Given the description of an element on the screen output the (x, y) to click on. 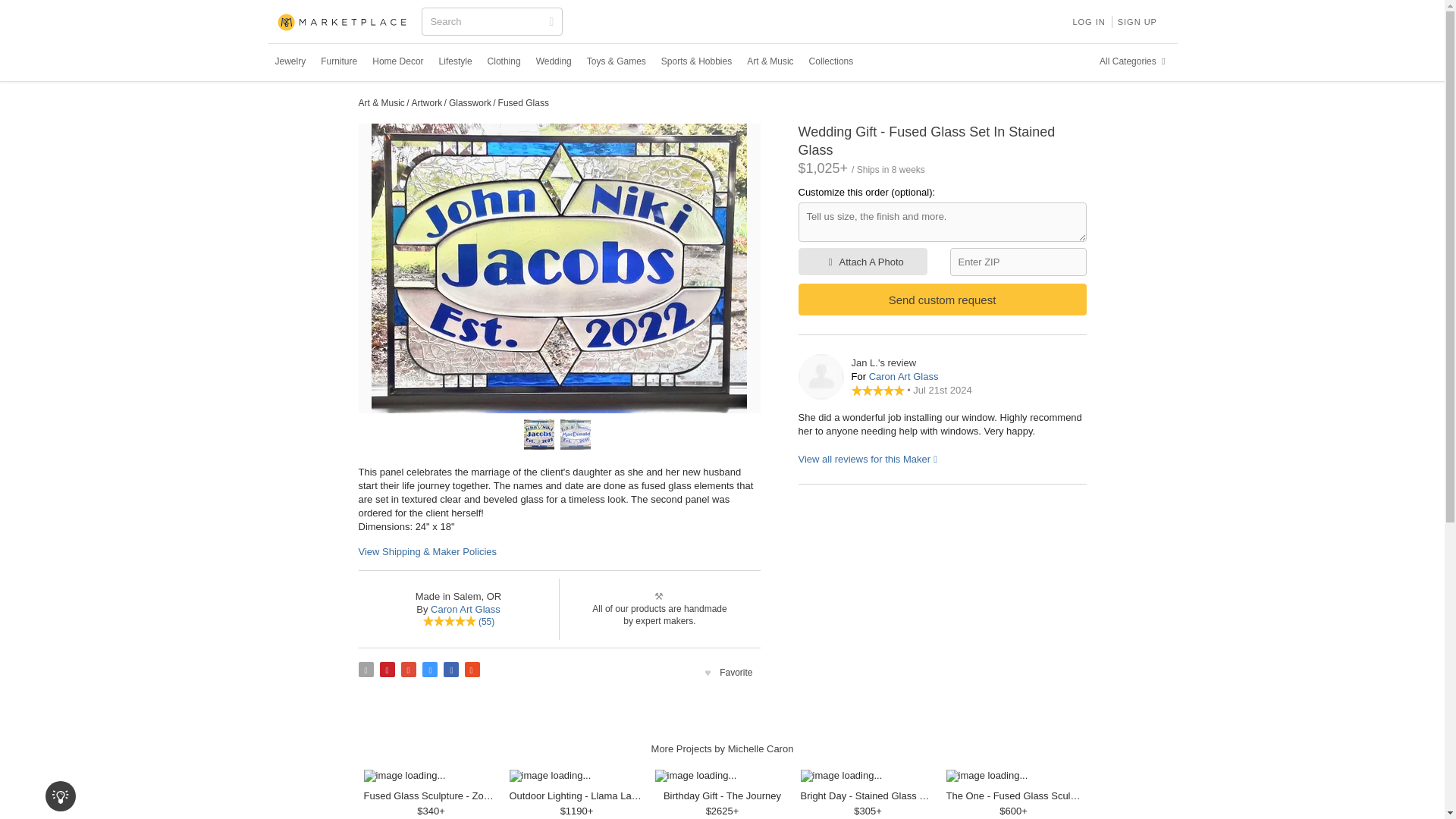
Jewelry (289, 61)
LOG IN (1087, 21)
SIGN UP (1137, 21)
Log in to CustomMade (1087, 21)
CUSTOMMADE (342, 22)
Custom Jewelry (289, 61)
All Categories (1134, 61)
